Given the description of an element on the screen output the (x, y) to click on. 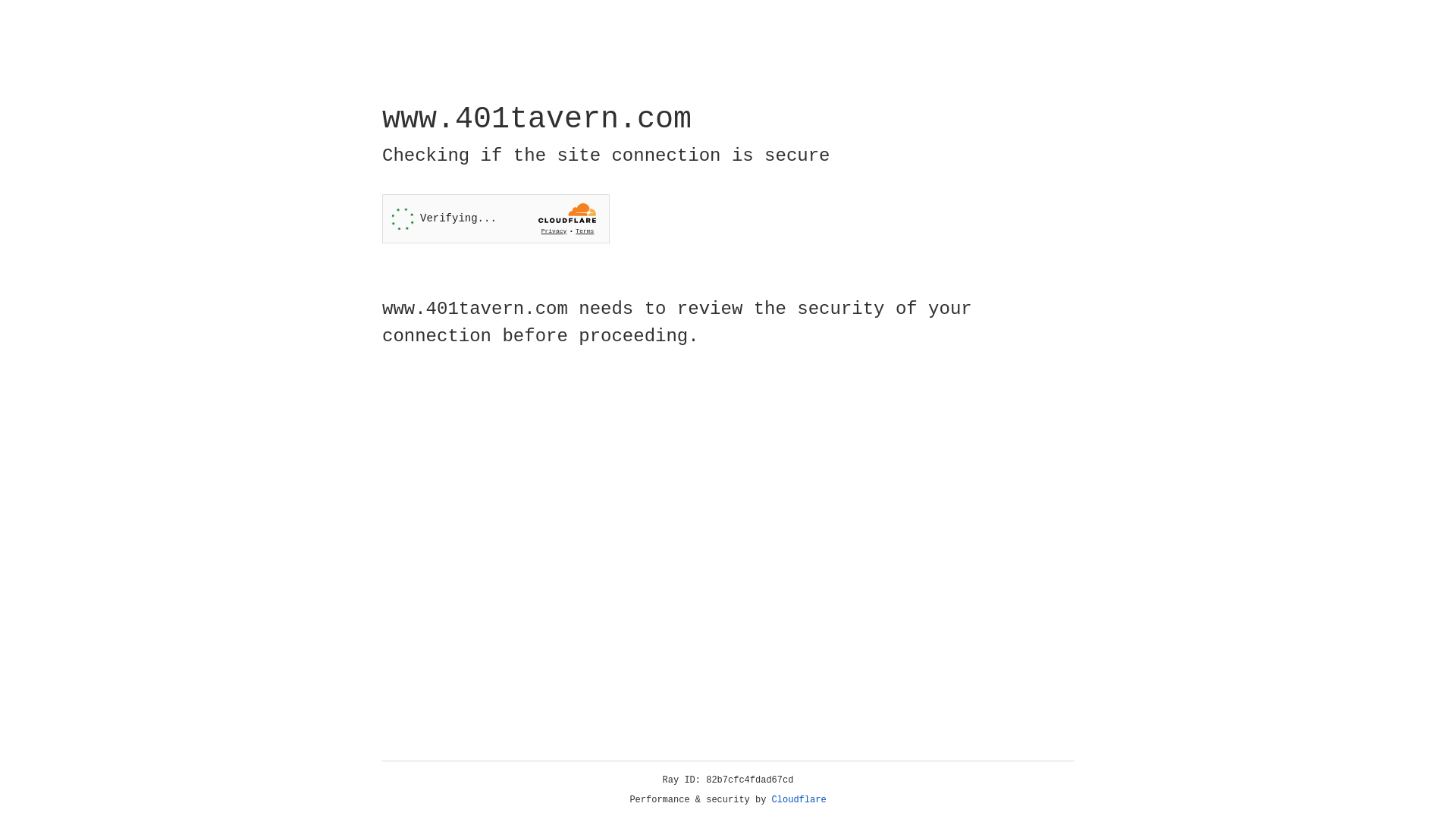
Cloudflare Element type: text (798, 799)
Widget containing a Cloudflare security challenge Element type: hover (495, 218)
